Given the description of an element on the screen output the (x, y) to click on. 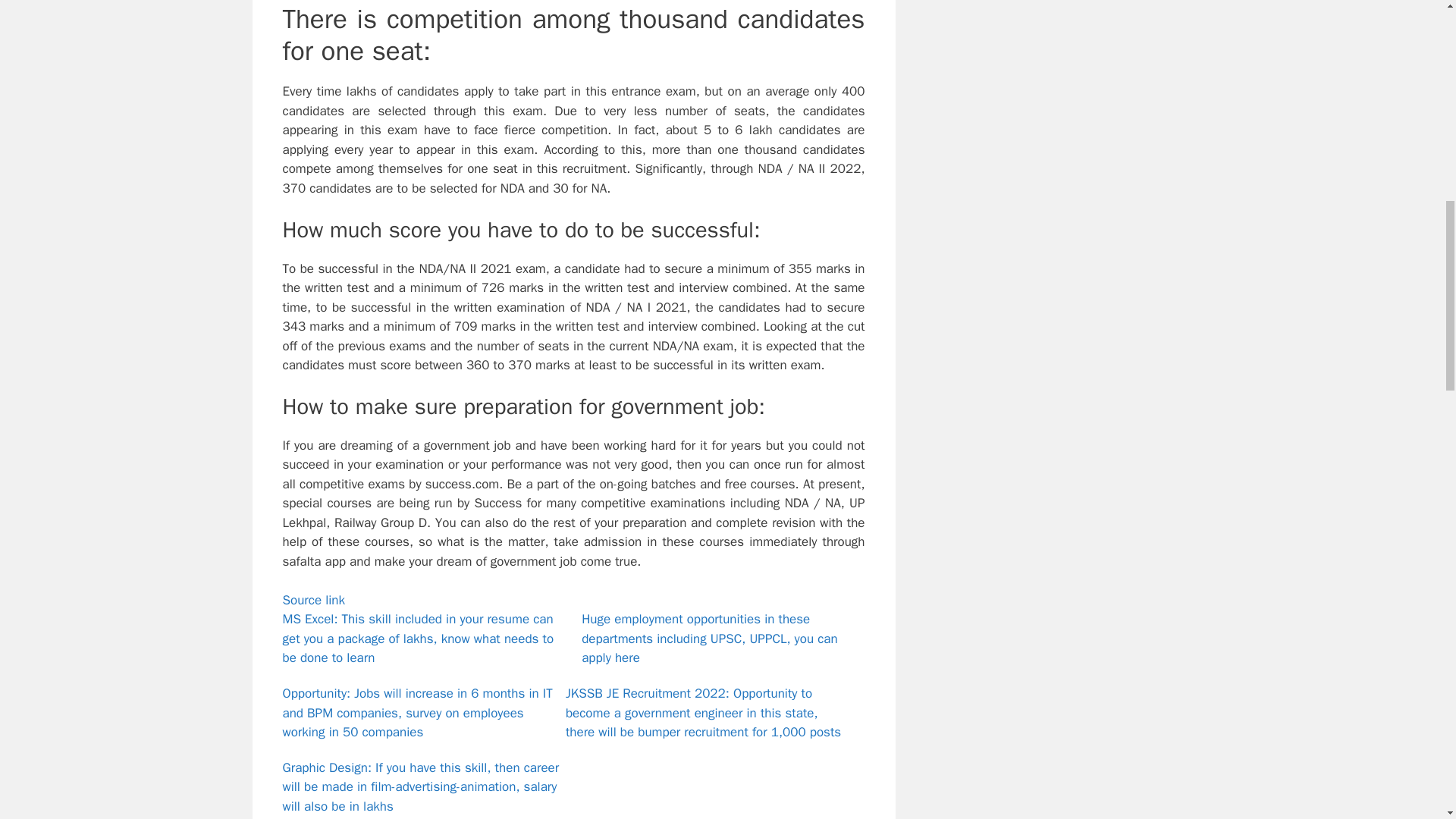
Source link (313, 600)
